Given the description of an element on the screen output the (x, y) to click on. 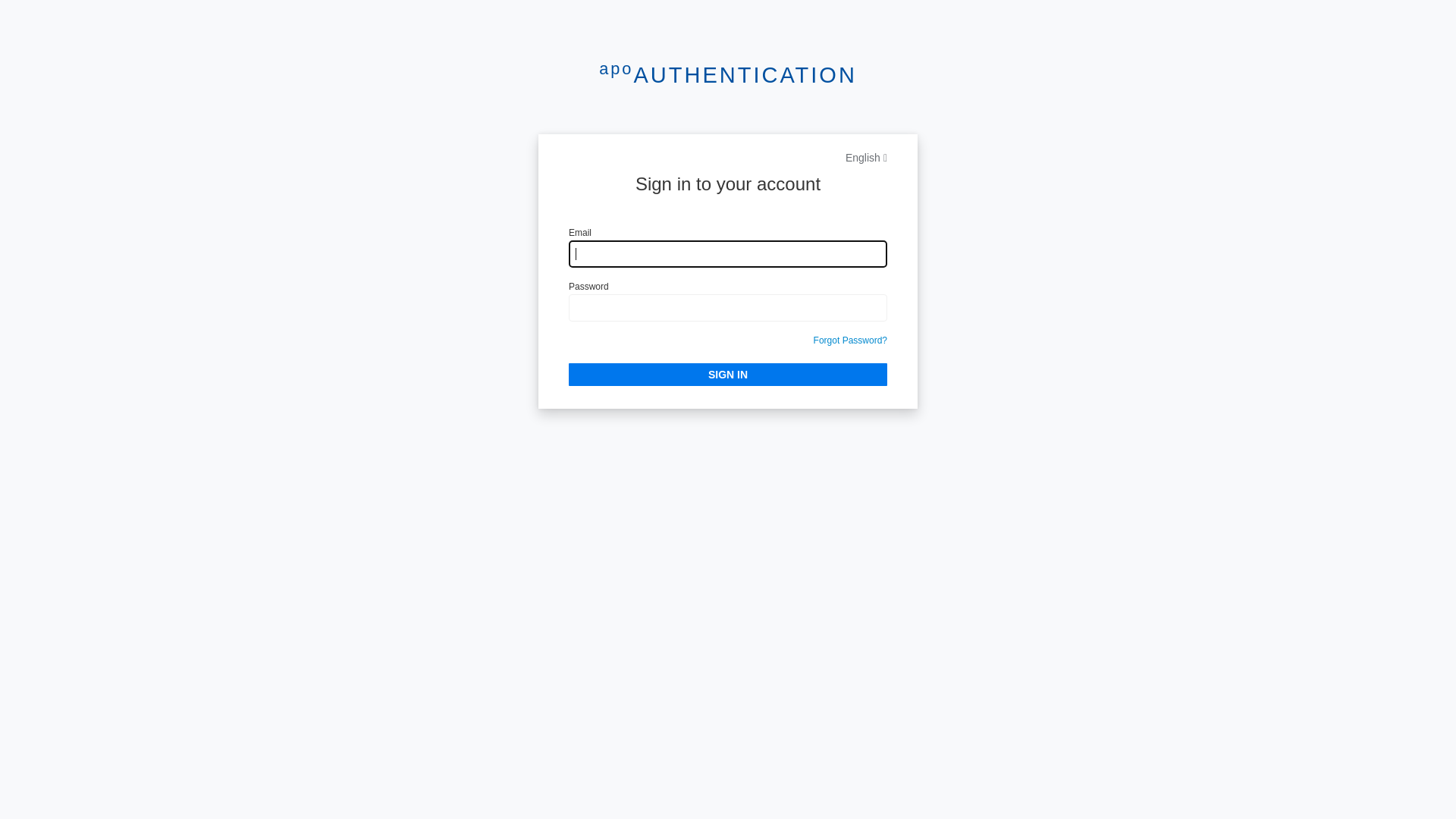
Sign In Element type: text (727, 374)
Forgot Password? Element type: text (850, 340)
English Element type: text (866, 157)
